Given the description of an element on the screen output the (x, y) to click on. 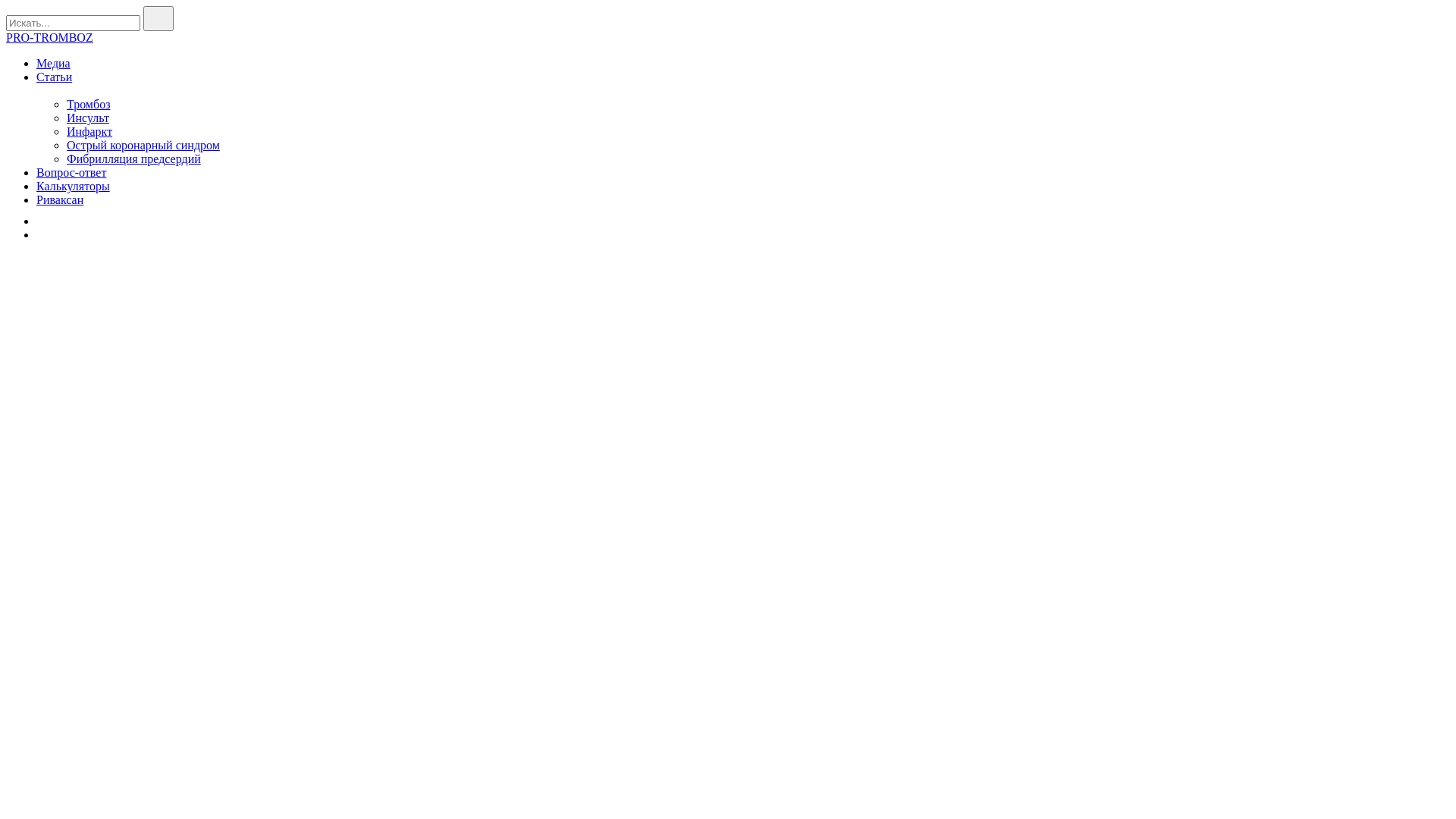
PRO-TROMBOZ Element type: text (49, 37)
